Given the description of an element on the screen output the (x, y) to click on. 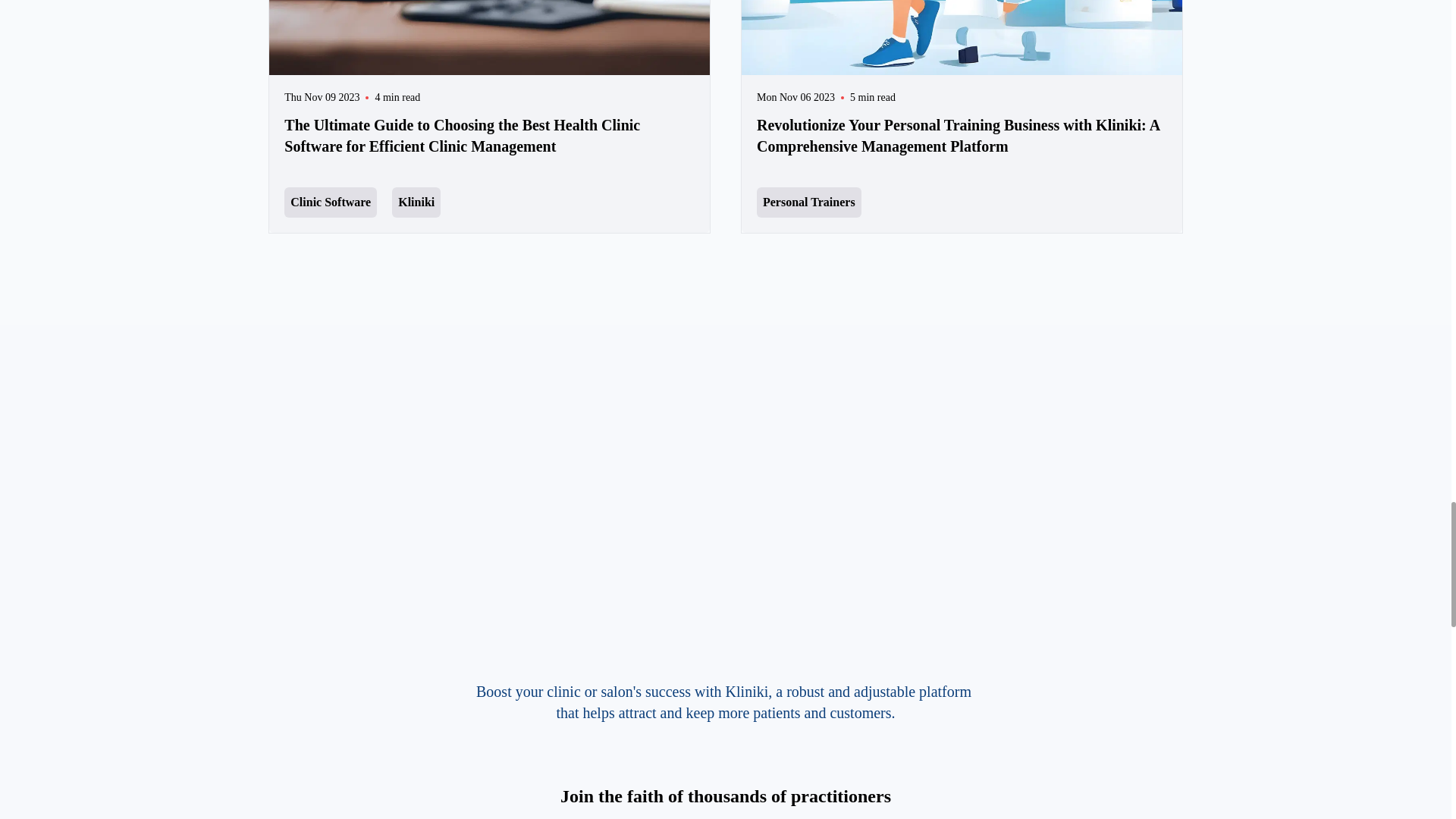
Click to view this blog post (489, 85)
Clinic Software (330, 202)
Personal Trainers (809, 202)
Click to view this blog post (961, 85)
Kliniki (416, 202)
